Given the description of an element on the screen output the (x, y) to click on. 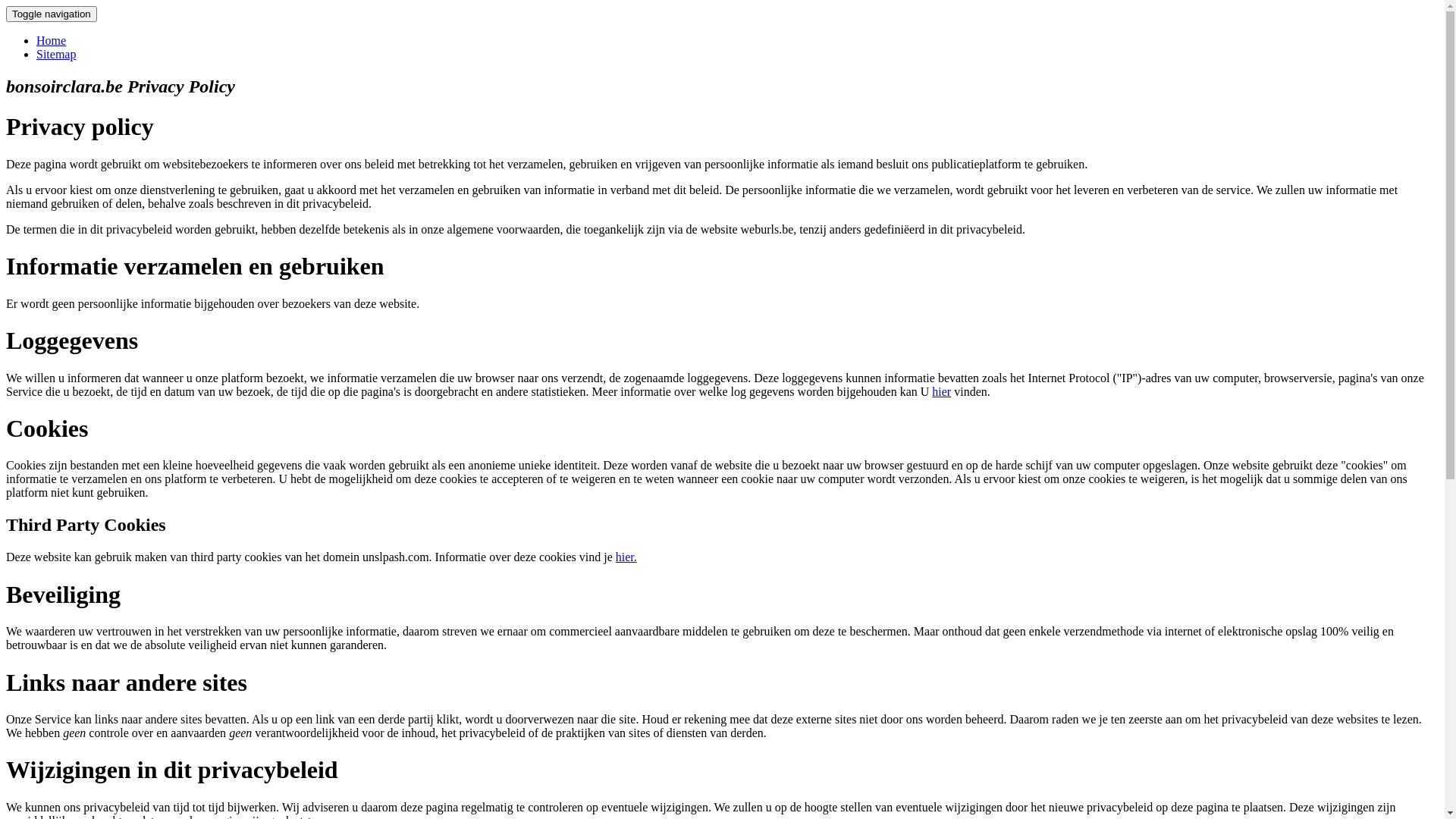
Home Element type: text (50, 40)
hier Element type: text (940, 391)
Toggle navigation Element type: text (51, 13)
hier. Element type: text (626, 556)
Sitemap Element type: text (55, 53)
